Given the description of an element on the screen output the (x, y) to click on. 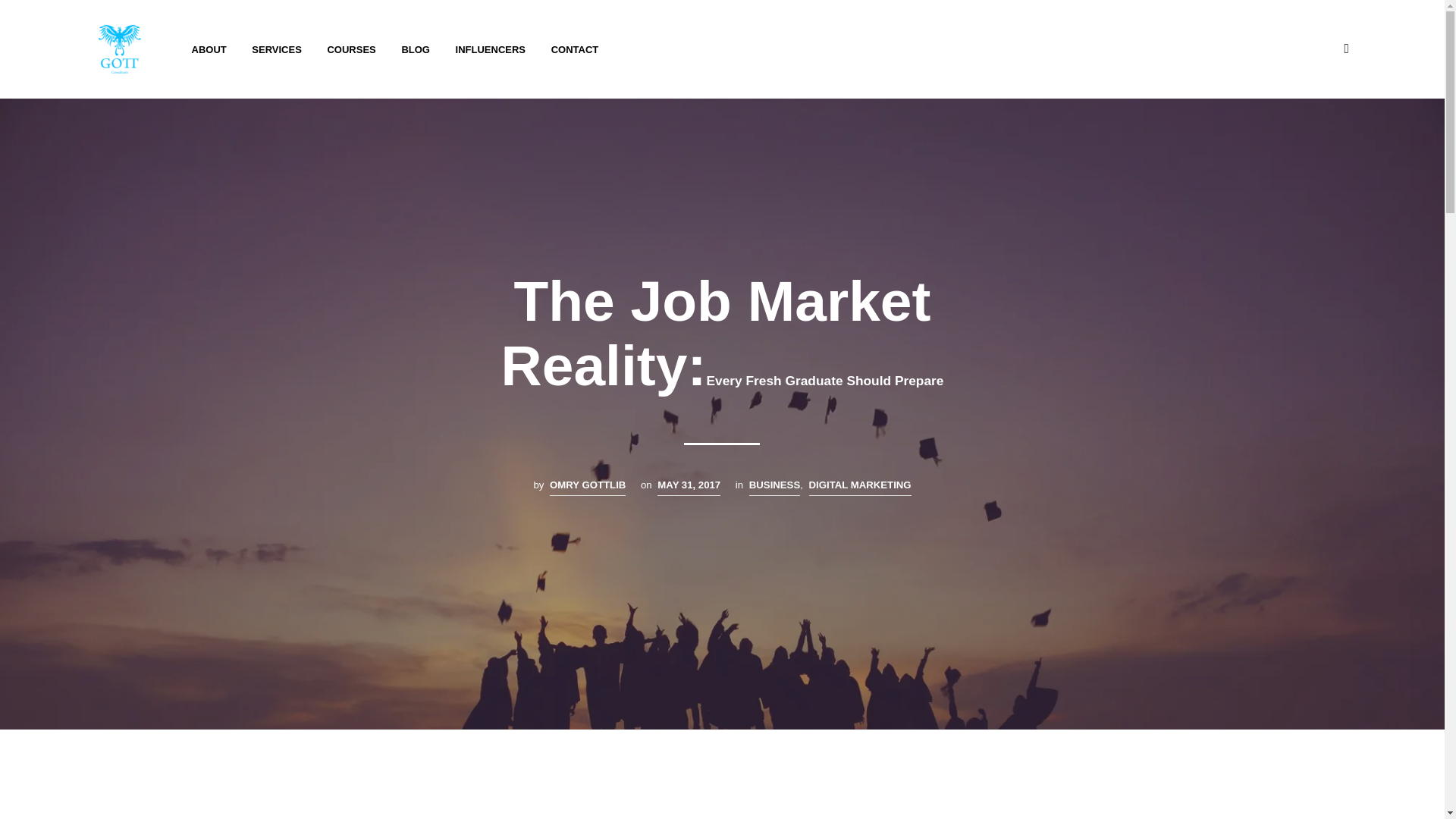
BLOG (415, 49)
MAY 31, 2017 (689, 486)
INFLUENCERS (490, 49)
CONTACT (575, 49)
ABOUT (209, 49)
BUSINESS (774, 486)
COURSES (351, 49)
SERVICES (276, 49)
DIGITAL MARKETING (860, 486)
